Given the description of an element on the screen output the (x, y) to click on. 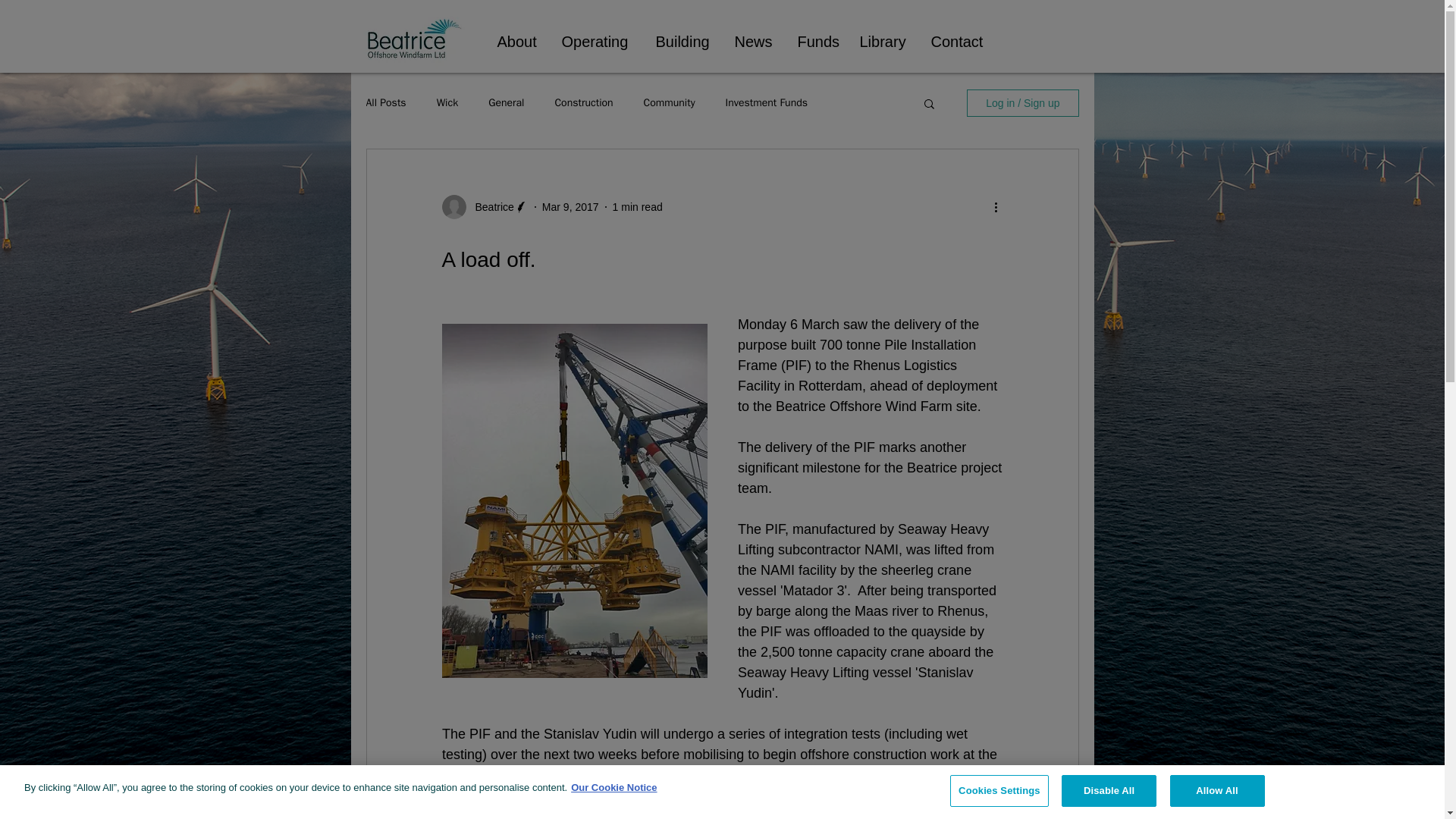
Wick (447, 102)
1 min read (637, 205)
Operating (597, 40)
Mar 9, 2017 (569, 205)
Home (414, 38)
About (517, 40)
Beatrice (489, 206)
Community (669, 102)
General (505, 102)
Funds (816, 40)
